Given the description of an element on the screen output the (x, y) to click on. 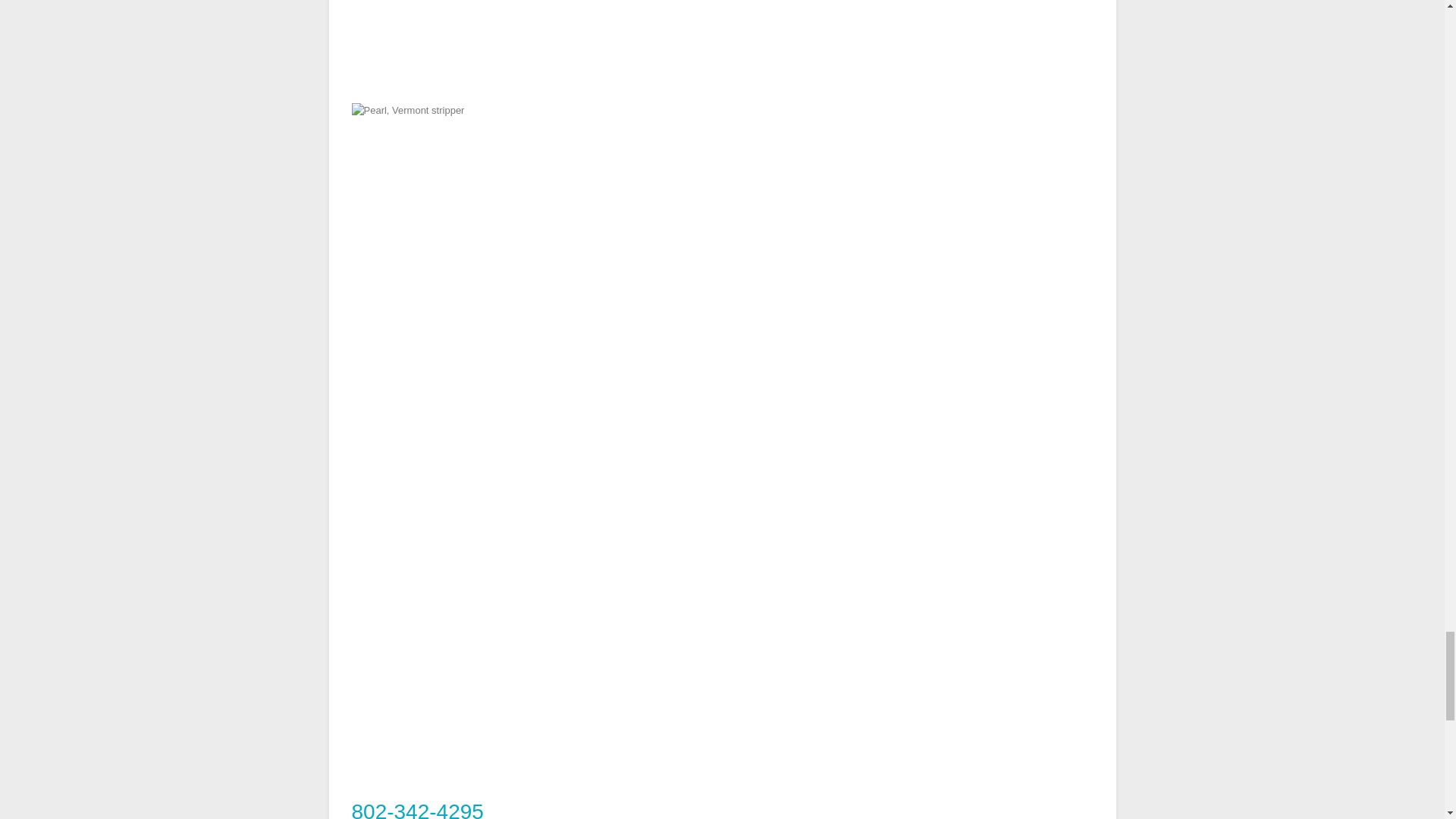
802-342-4295 (417, 809)
